Given the description of an element on the screen output the (x, y) to click on. 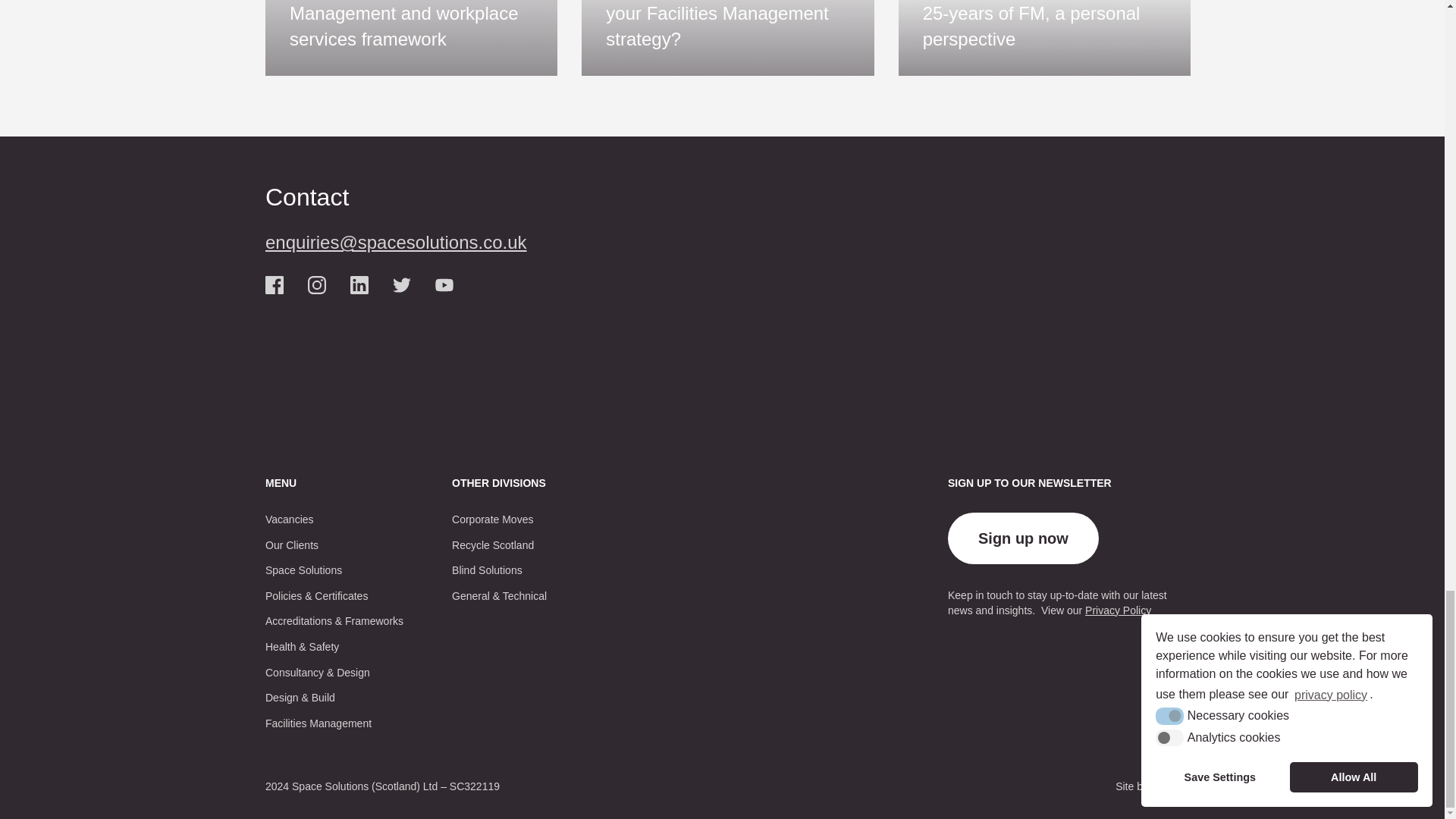
Vacancies (289, 519)
